Given the description of an element on the screen output the (x, y) to click on. 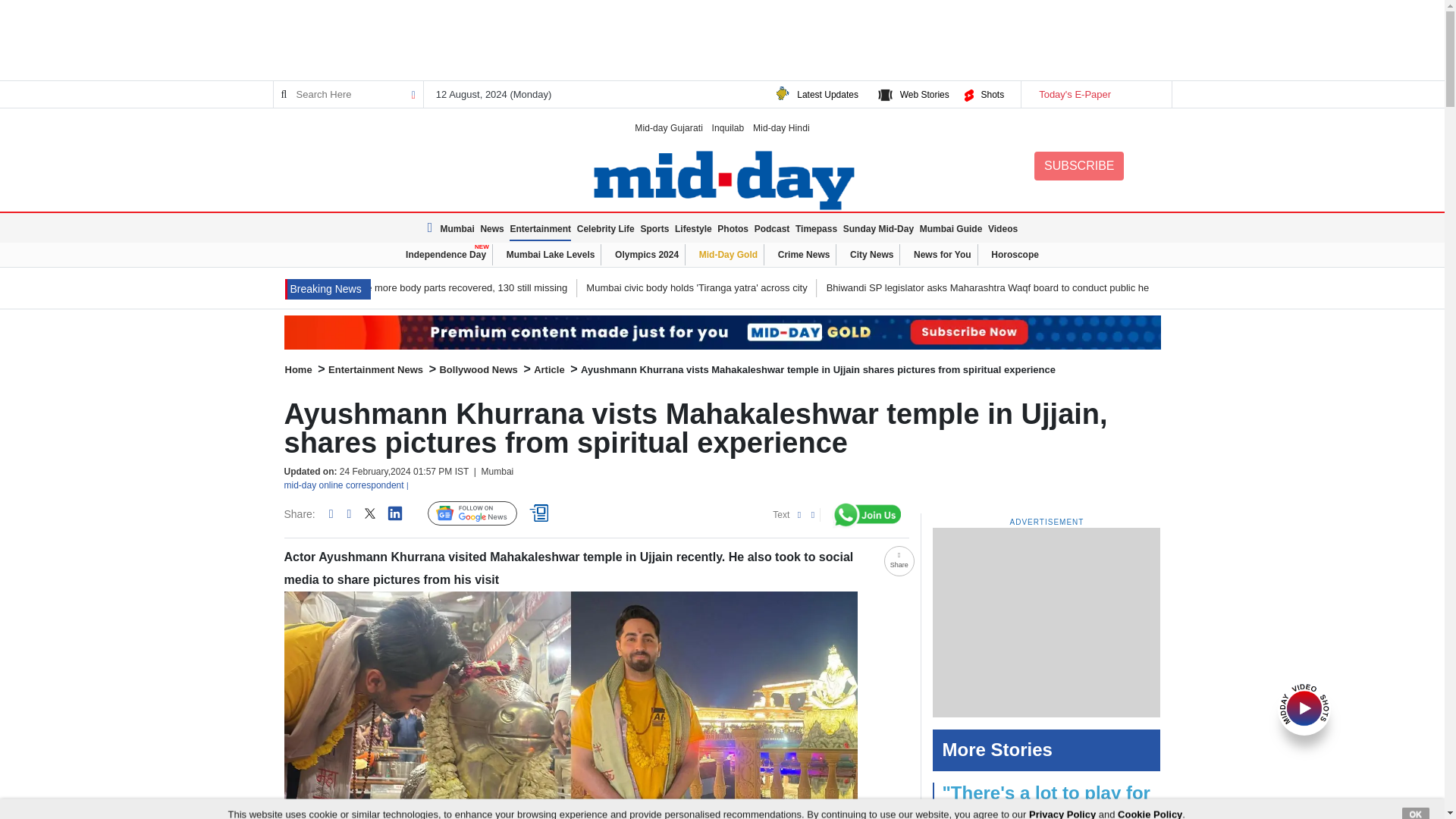
Latest Updates (827, 94)
Latest News (328, 289)
Mid-day Gujarati (668, 127)
Subscription (721, 332)
Inquilab (728, 127)
Midday Shot Videos (1304, 706)
Mid-day Hindi (780, 127)
Quick Reads (541, 513)
Latest News (432, 227)
